Given the description of an element on the screen output the (x, y) to click on. 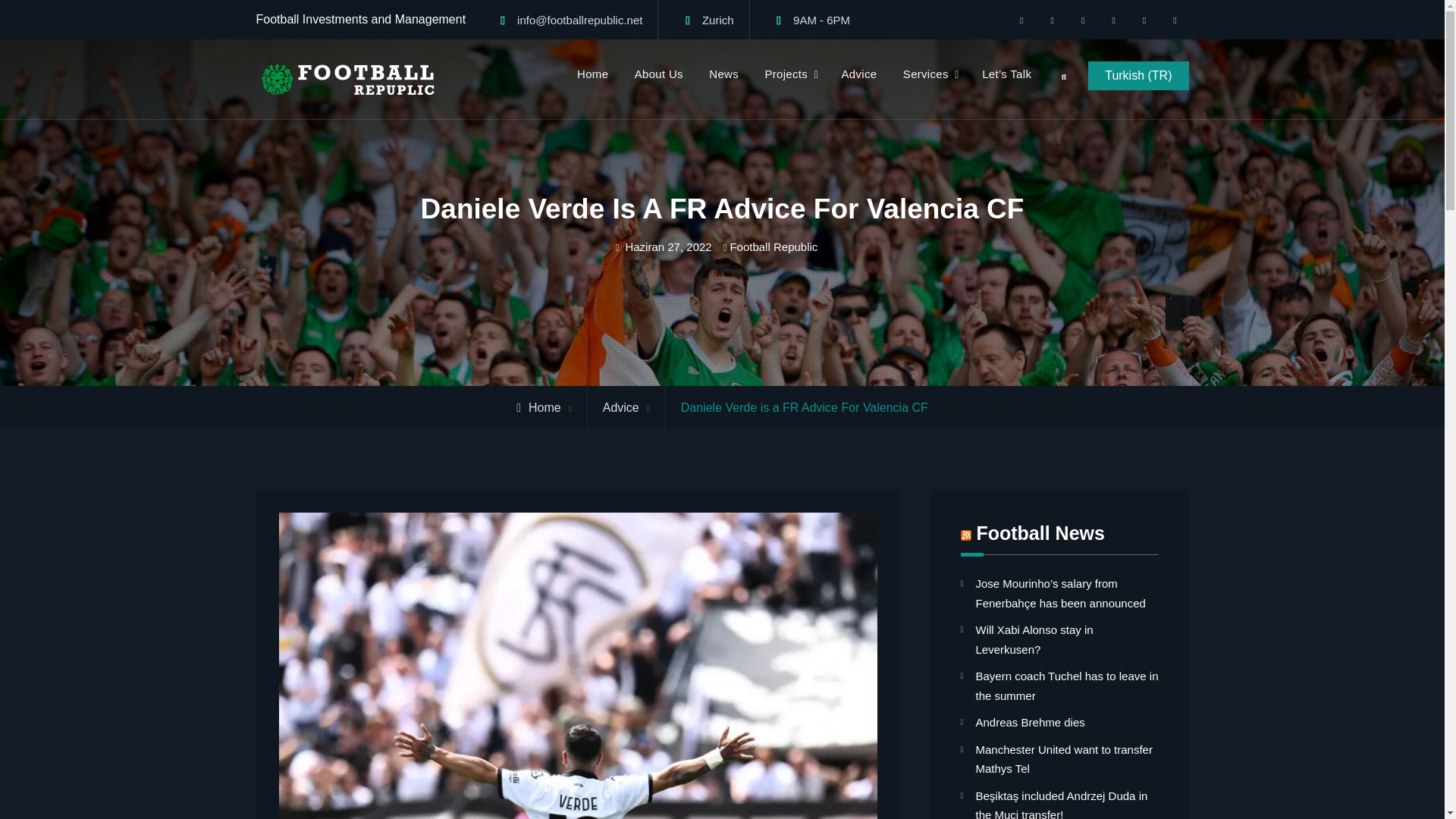
Facebook (1021, 19)
Instagram (1082, 19)
YouTube (1113, 19)
Twitter (1052, 19)
Linkedin (1144, 19)
